Given the description of an element on the screen output the (x, y) to click on. 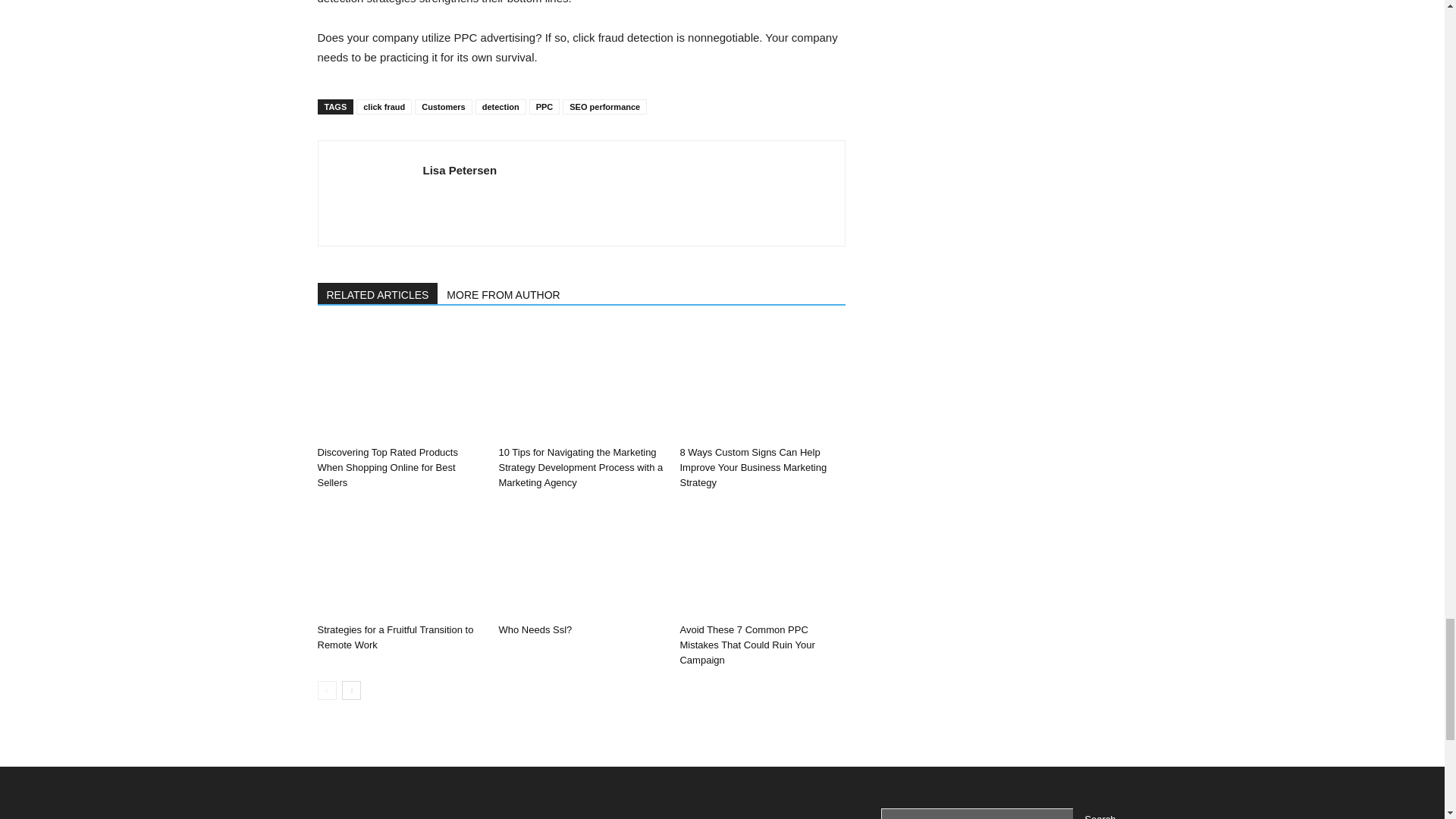
Strategies for a Fruitful Transition to Remote Work (395, 637)
RELATED ARTICLES (377, 292)
Lisa Petersen (460, 169)
click fraud (384, 106)
detection (500, 106)
SEO performance (604, 106)
Search (1099, 813)
Customers (442, 106)
Strategies for a Fruitful Transition to Remote Work (399, 560)
PPC (544, 106)
